Given the description of an element on the screen output the (x, y) to click on. 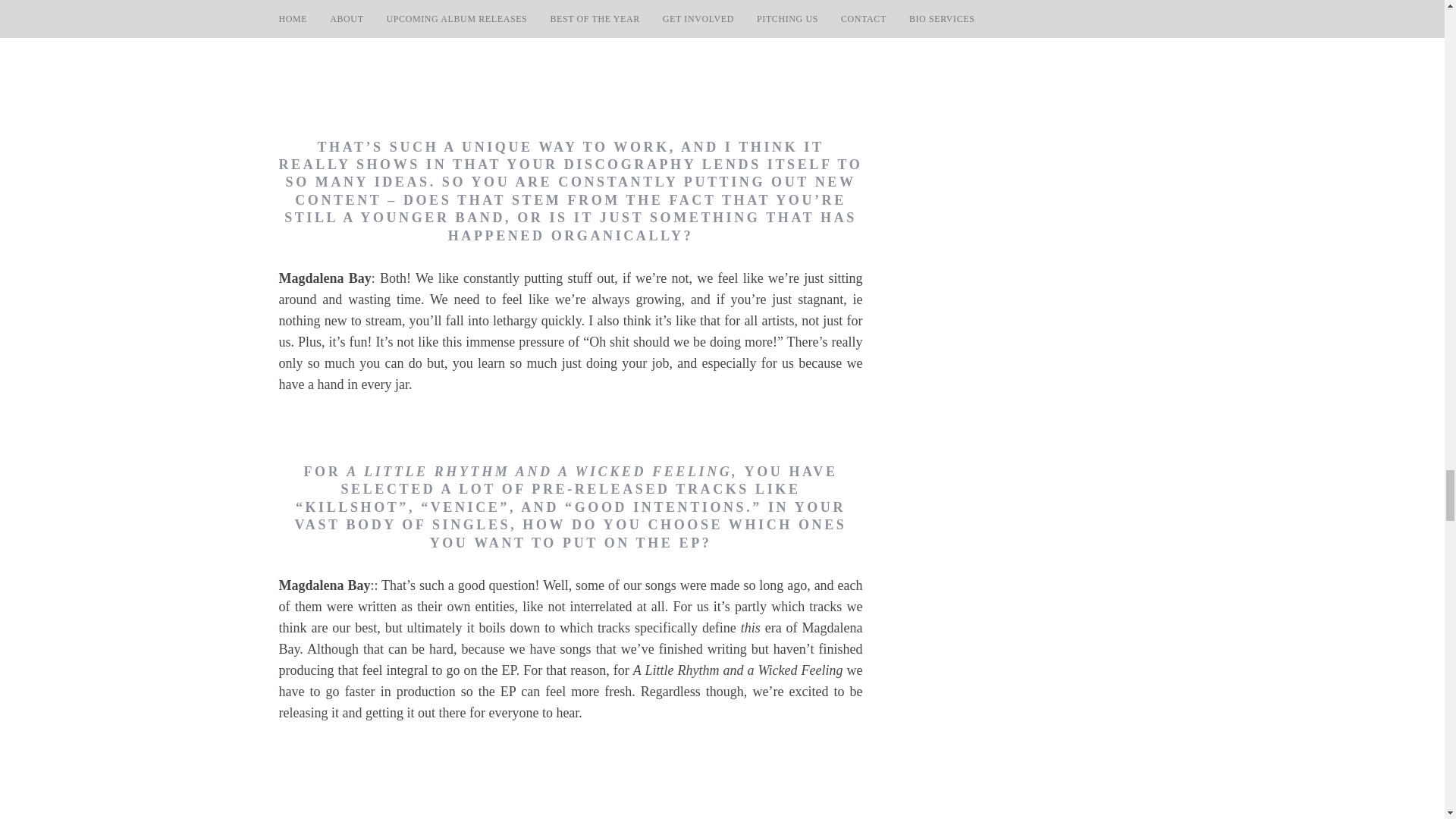
Magdalena Bay - Killshot (571, 782)
